Given the description of an element on the screen output the (x, y) to click on. 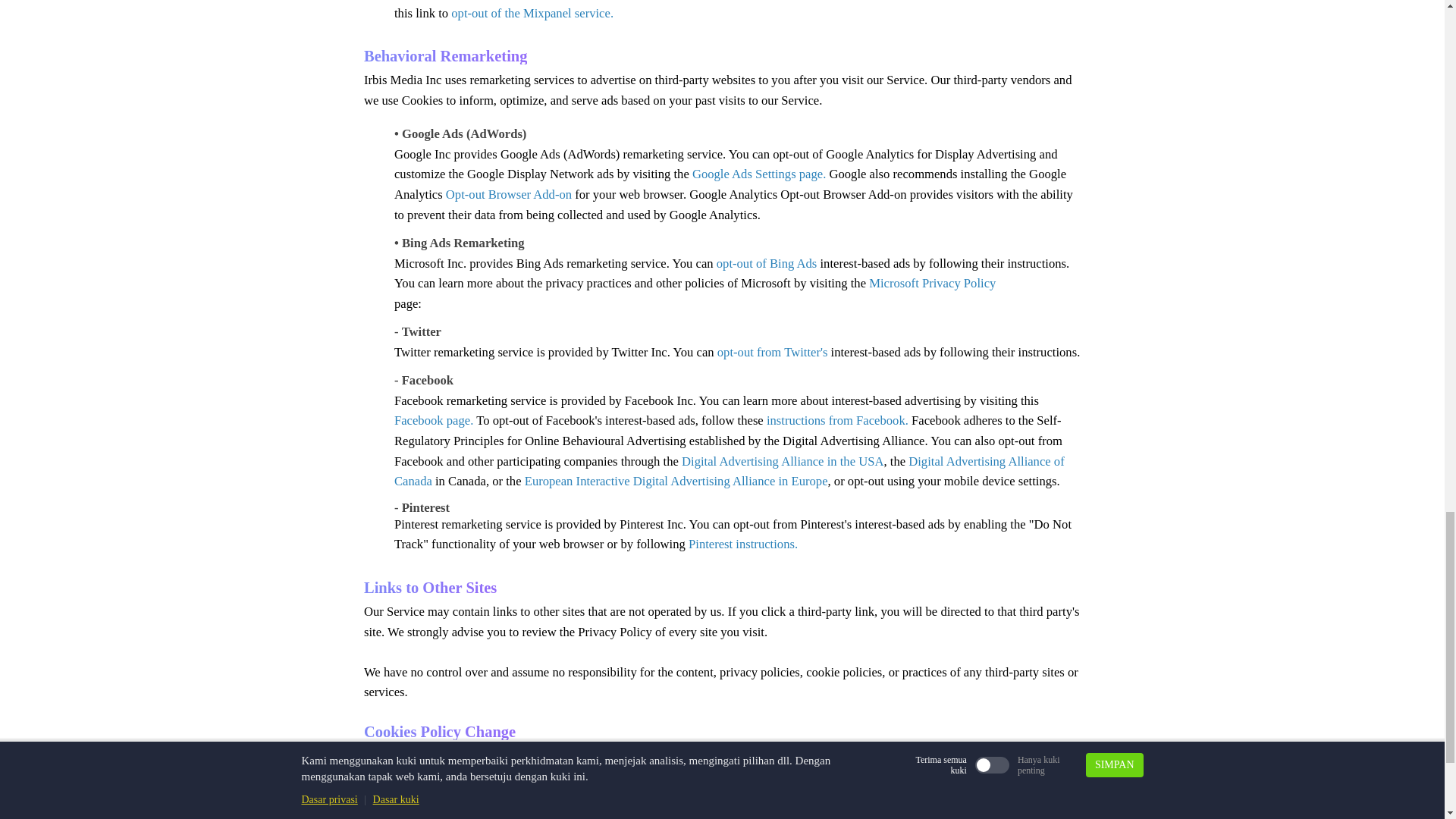
Pinterest instructions. (742, 544)
pt-out from Twitter's (775, 351)
opt-out of the Mixpanel service. (531, 12)
Microsoft Privacy Policy (932, 283)
European Interactive Digital Advertising Alliance in Europe (676, 481)
Digital Advertising Alliance in the USA (782, 461)
opt-out of Bing Ads (768, 263)
Facebook page. (435, 420)
Google Ads Settings page. (759, 173)
instructions from Facebook. (837, 420)
Opt-out Browser Add-on (508, 194)
Digital Advertising Alliance of Canada (729, 471)
